Given the description of an element on the screen output the (x, y) to click on. 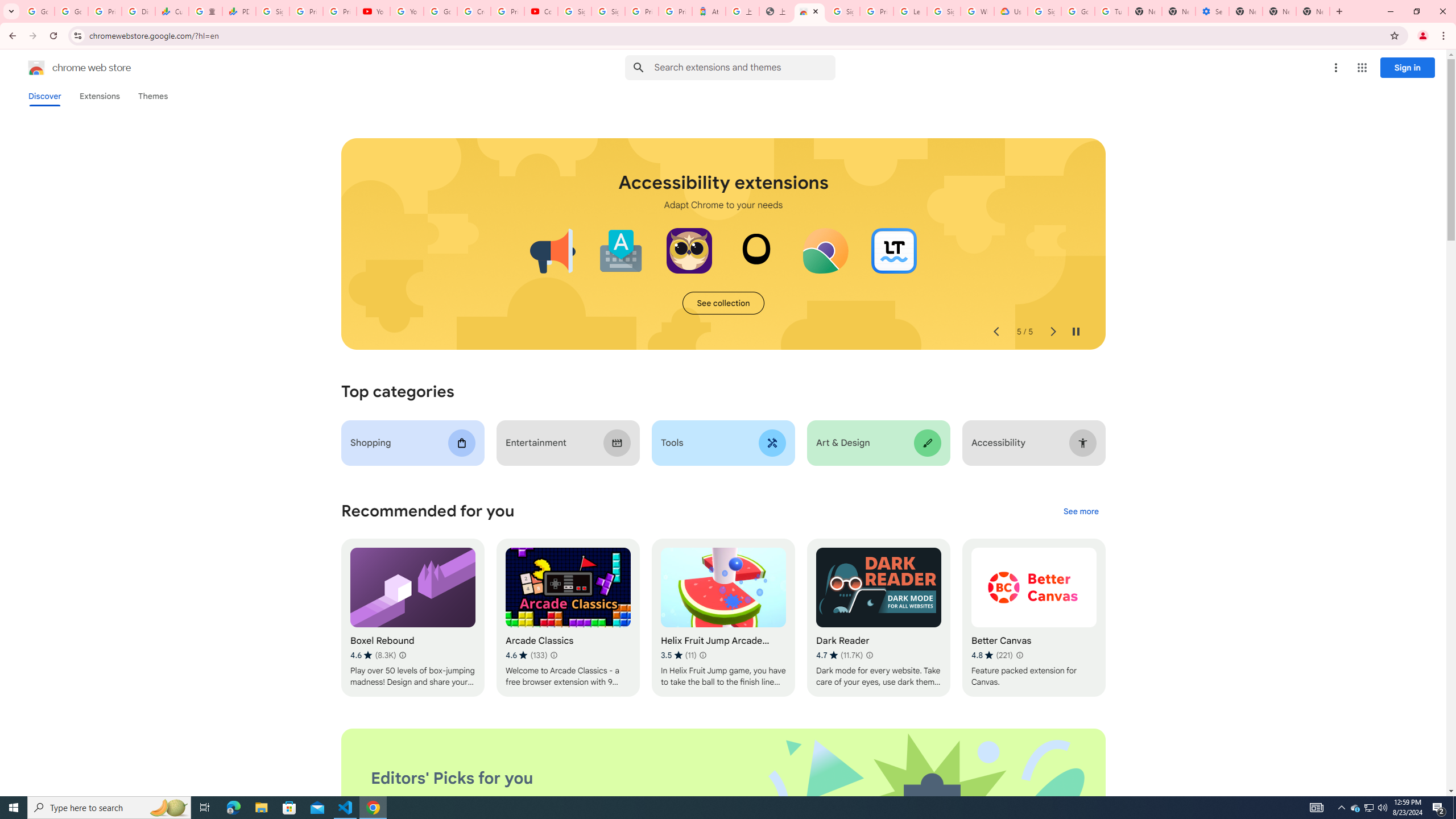
Learn more about results and reviews "Better Canvas" (1019, 655)
Minimize (1390, 11)
Chrome Web Store logo chrome web store (67, 67)
Sign in - Google Accounts (574, 11)
Average rating 4.6 out of 5 stars. 8.3K ratings. (372, 655)
Address and search bar (735, 35)
Google Workspace Admin Community (37, 11)
See more personalized recommendations (1080, 511)
Privacy Checkup (339, 11)
Sign in - Google Accounts (943, 11)
Discover (43, 95)
You (1422, 35)
